Given the description of an element on the screen output the (x, y) to click on. 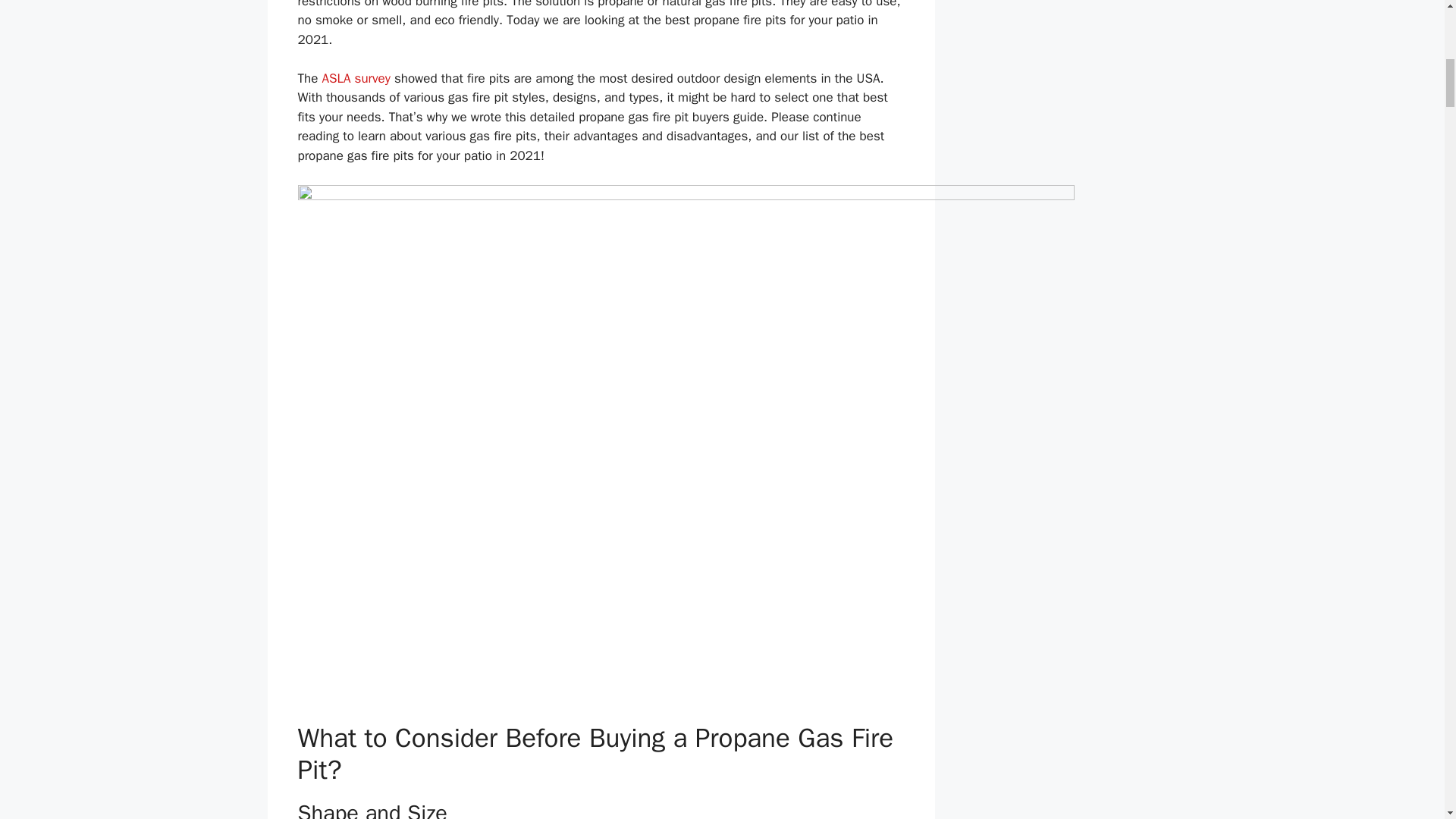
Scroll back to top (1406, 720)
ASLA survey (355, 78)
